Given the description of an element on the screen output the (x, y) to click on. 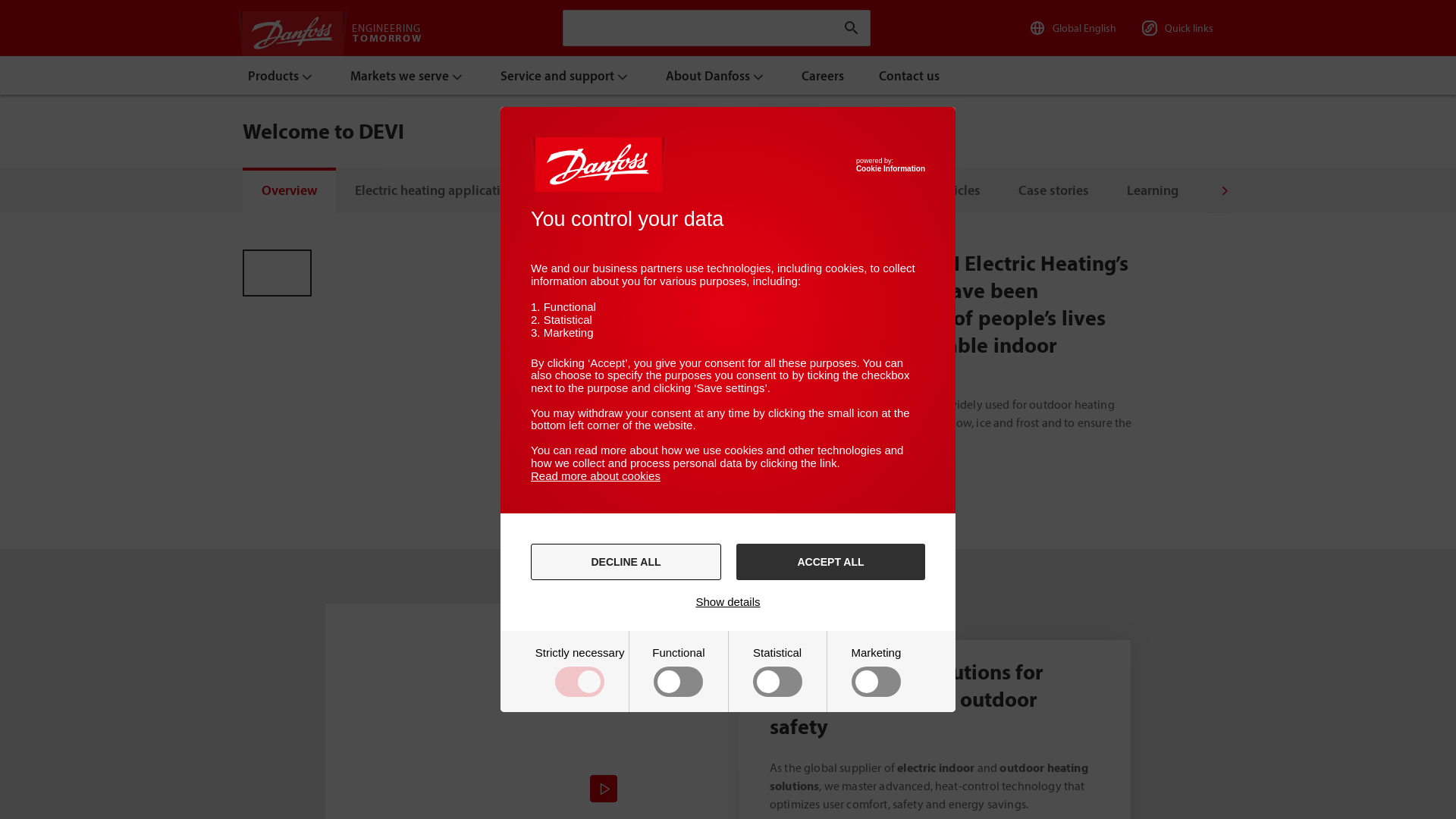
Quick links Element type: text (1175, 28)
on Element type: text (875, 671)
on Element type: text (678, 671)
Global English Element type: text (1071, 28)
ACCEPT ALL Element type: text (830, 561)
Cookie Information Element type: text (890, 168)
DECLINE ALL Element type: text (625, 561)
Contact us Element type: text (909, 75)
Read more about cookies Element type: text (595, 475)
Careers Element type: text (823, 75)
on Element type: text (777, 671)
Show details Element type: text (727, 601)
